Given the description of an element on the screen output the (x, y) to click on. 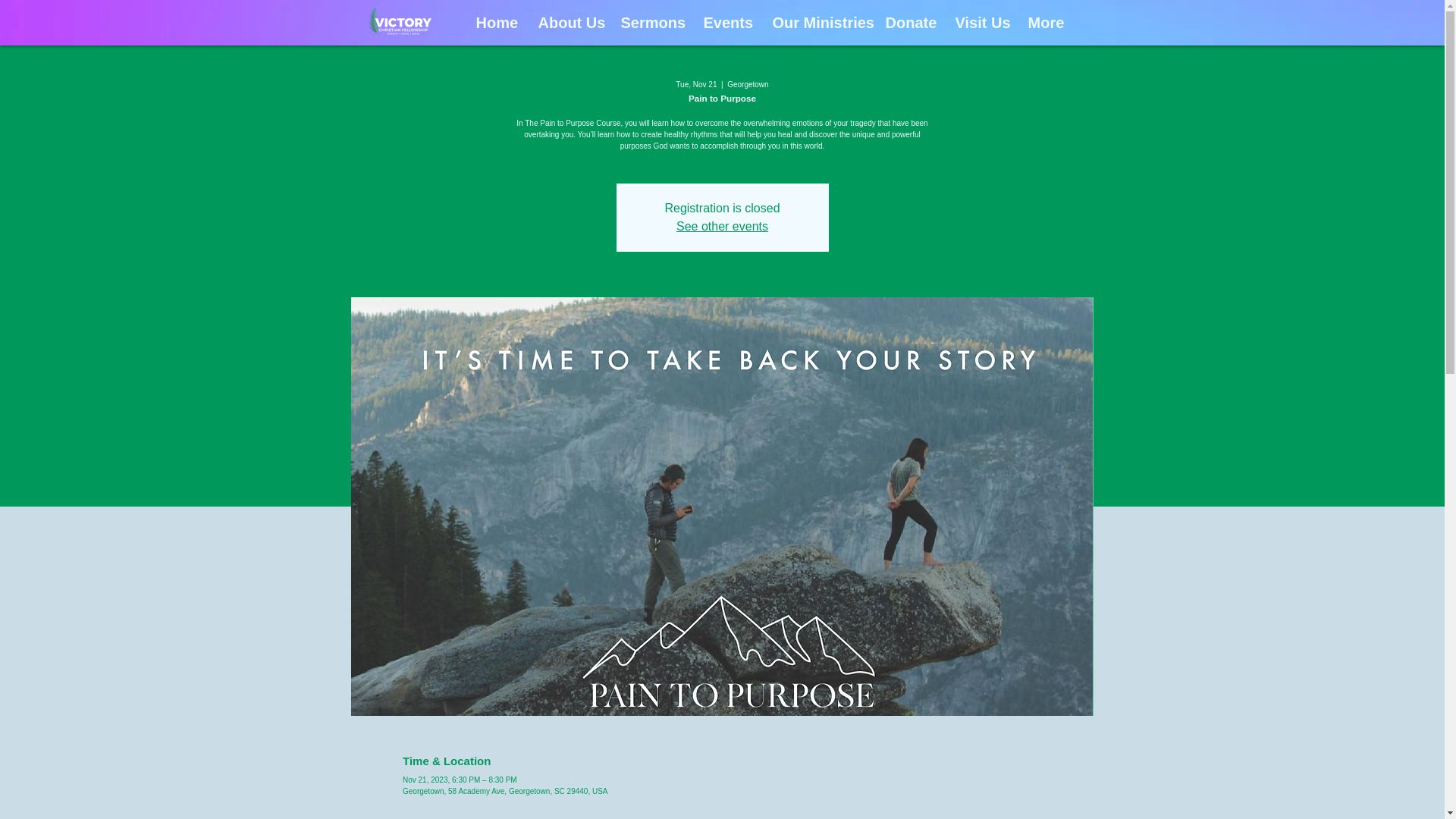
Home (483, 22)
Our Ministries (809, 22)
Home (494, 22)
See other events (722, 226)
Visit Us (976, 22)
Sermons (651, 22)
Sermons (642, 22)
Donate (908, 22)
Donate (903, 22)
Events (715, 22)
